Given the description of an element on the screen output the (x, y) to click on. 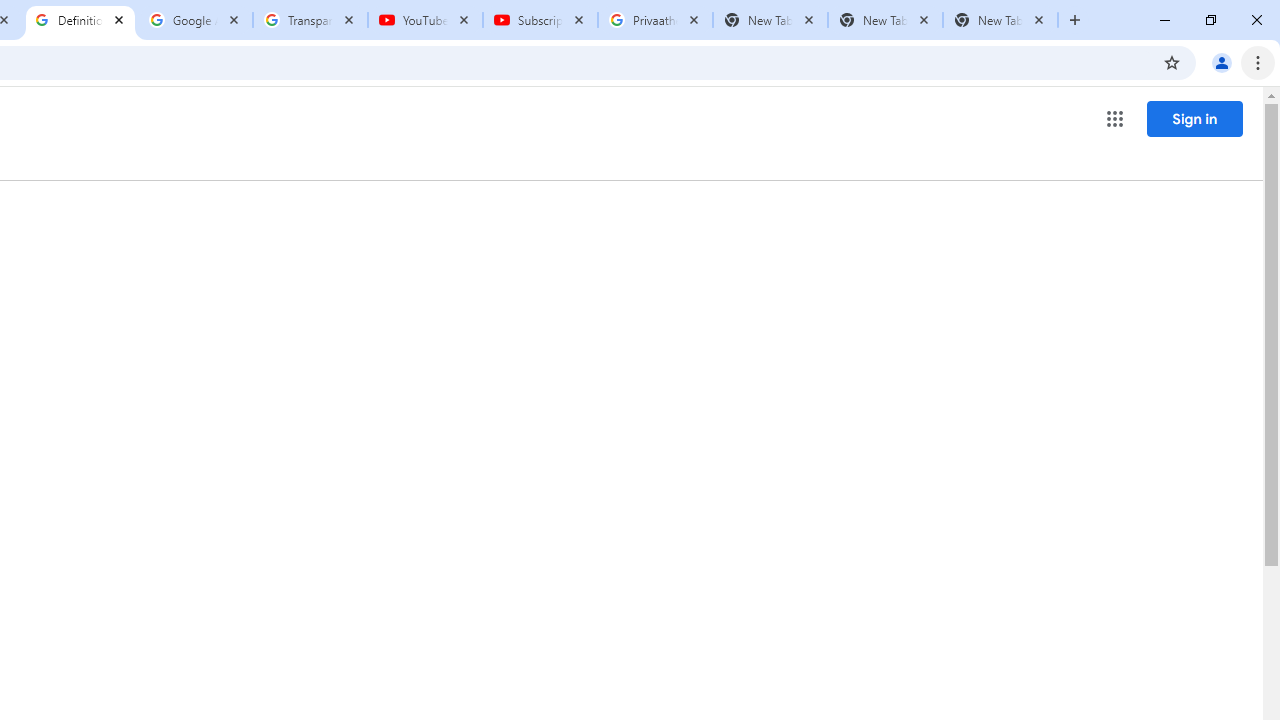
New Tab (1000, 20)
YouTube (424, 20)
Subscriptions - YouTube (539, 20)
Google Account (195, 20)
